Given the description of an element on the screen output the (x, y) to click on. 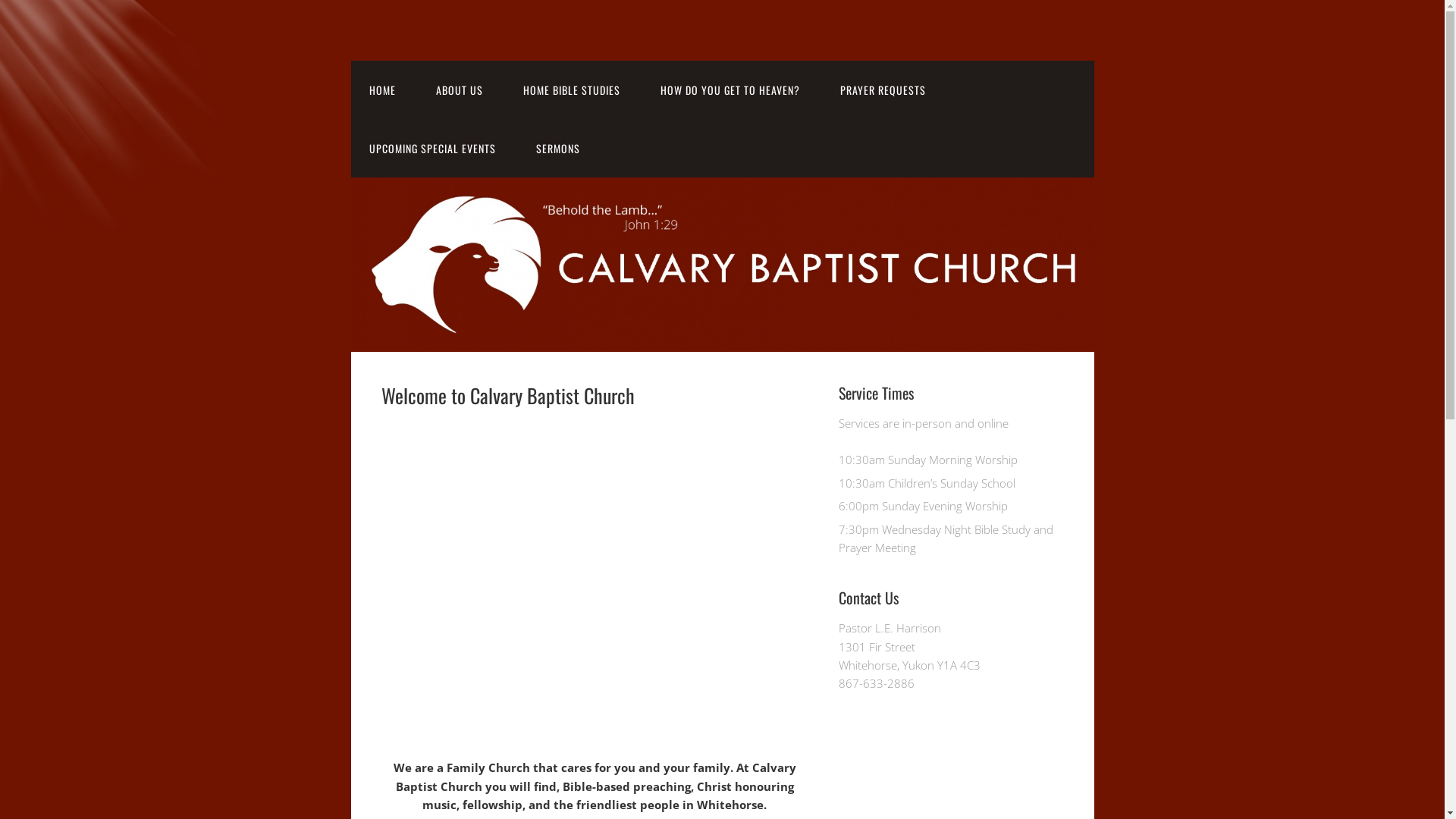
HOME BIBLE STUDIES Element type: text (571, 89)
PRAYER REQUESTS Element type: text (883, 89)
ABOUT US Element type: text (458, 89)
HOME Element type: text (381, 89)
SERMONS Element type: text (557, 148)
UPCOMING SPECIAL EVENTS Element type: text (431, 148)
HOW DO YOU GET TO HEAVEN? Element type: text (729, 89)
